Given the description of an element on the screen output the (x, y) to click on. 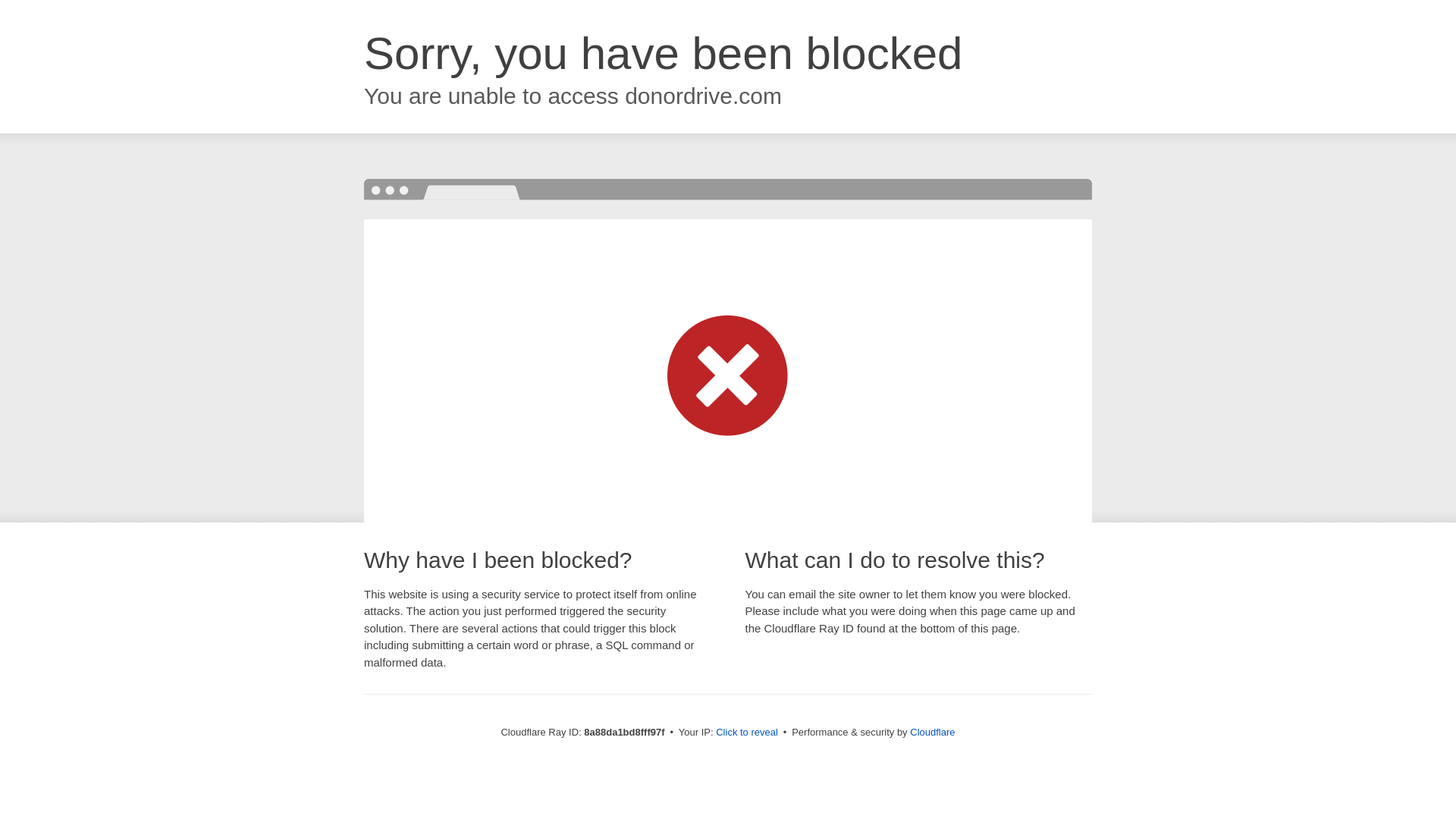
Cloudflare (932, 731)
Click to reveal (746, 732)
